Given the description of an element on the screen output the (x, y) to click on. 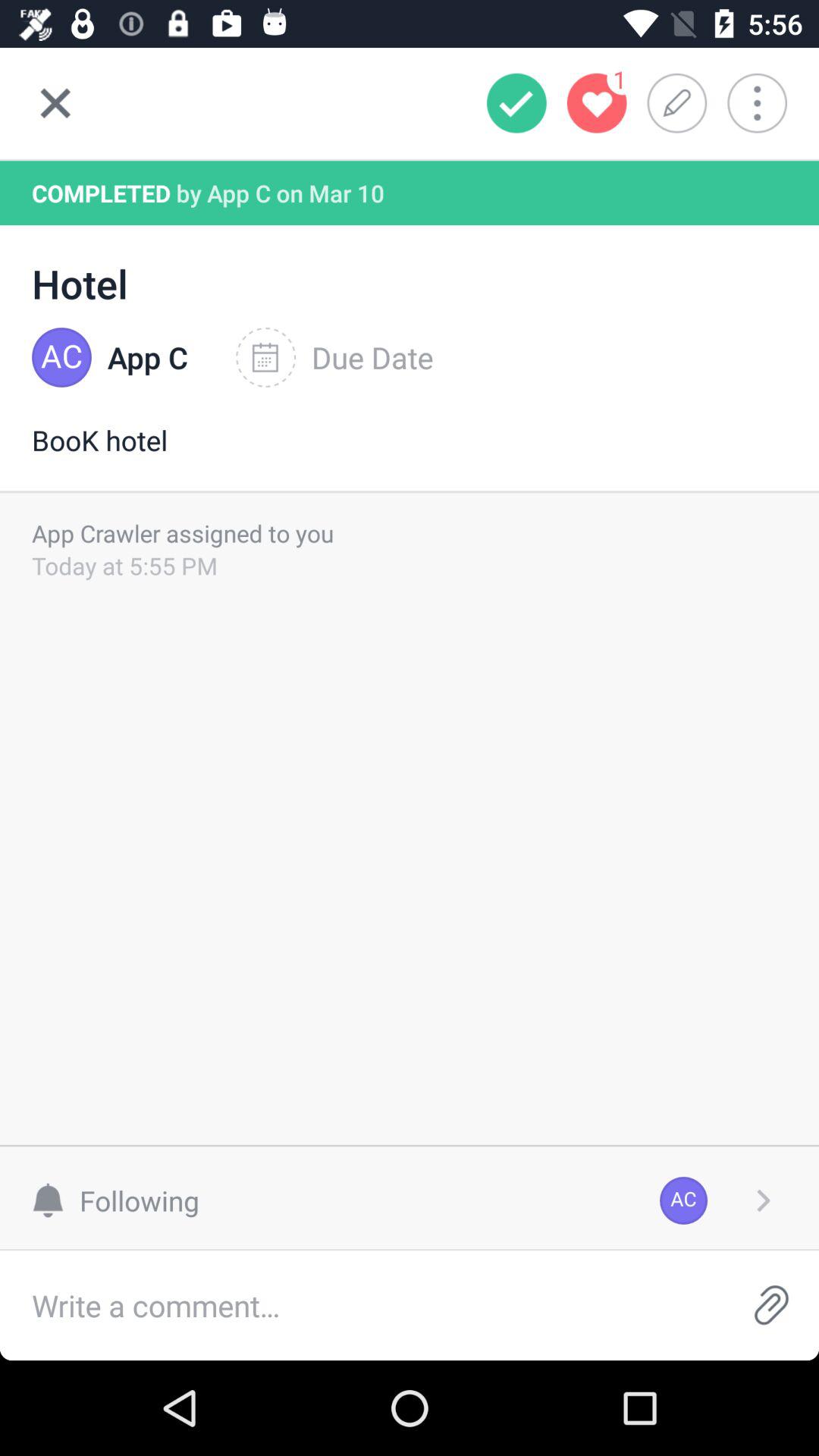
open menu (768, 103)
